Given the description of an element on the screen output the (x, y) to click on. 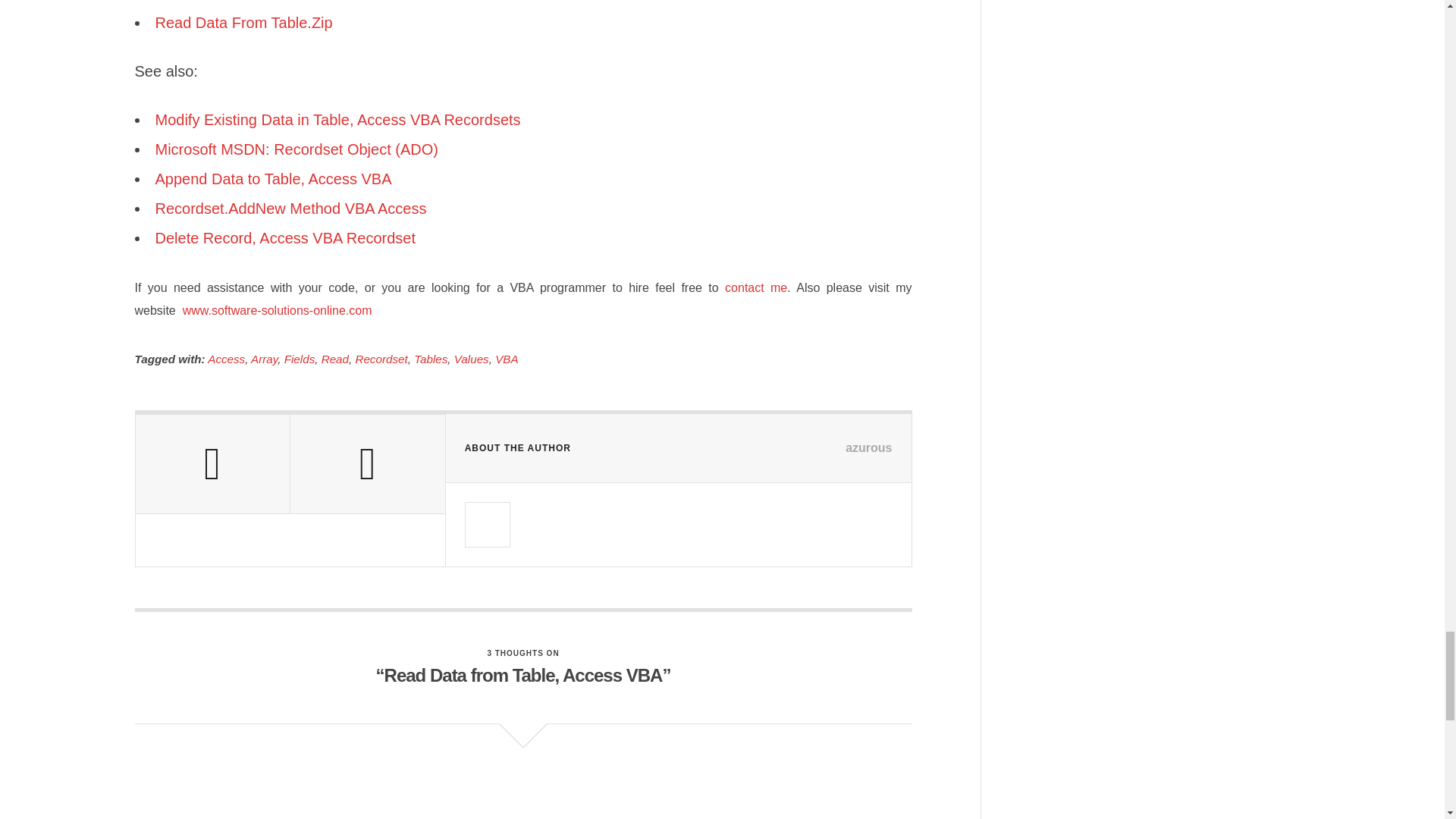
Next Post (367, 463)
Delete Record, Access VBA Recordset (284, 238)
Append Data to Table, Access VBA (272, 178)
Tables (429, 358)
Fields (299, 358)
Recordset (381, 358)
Read Data From Table.Zip (242, 22)
VBA (506, 358)
Array (264, 358)
contact me (756, 287)
